Given the description of an element on the screen output the (x, y) to click on. 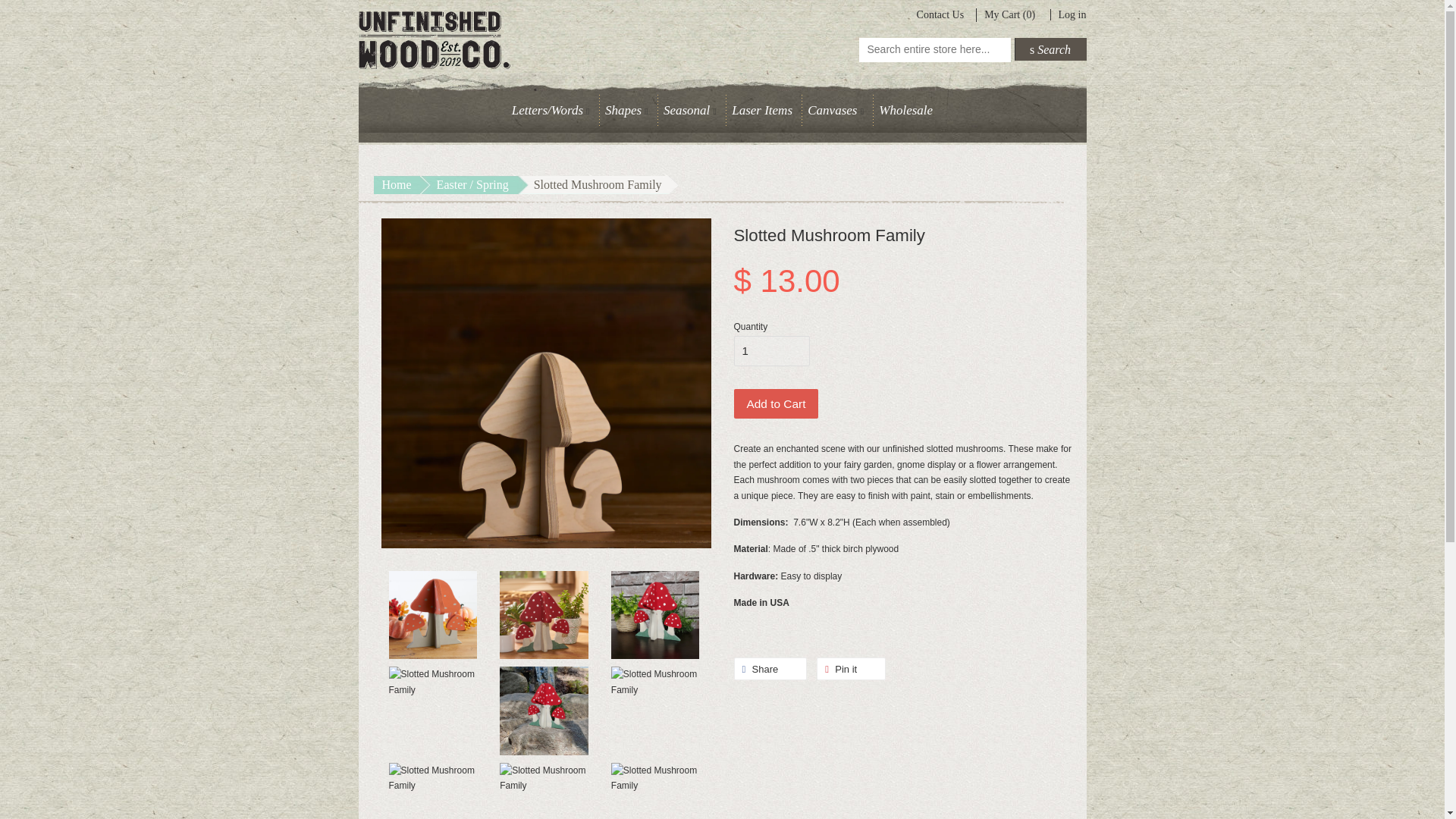
Back to the frontpage (395, 185)
Search (1050, 48)
Log in (1071, 14)
Contact Us (940, 14)
1 (771, 350)
